Given the description of an element on the screen output the (x, y) to click on. 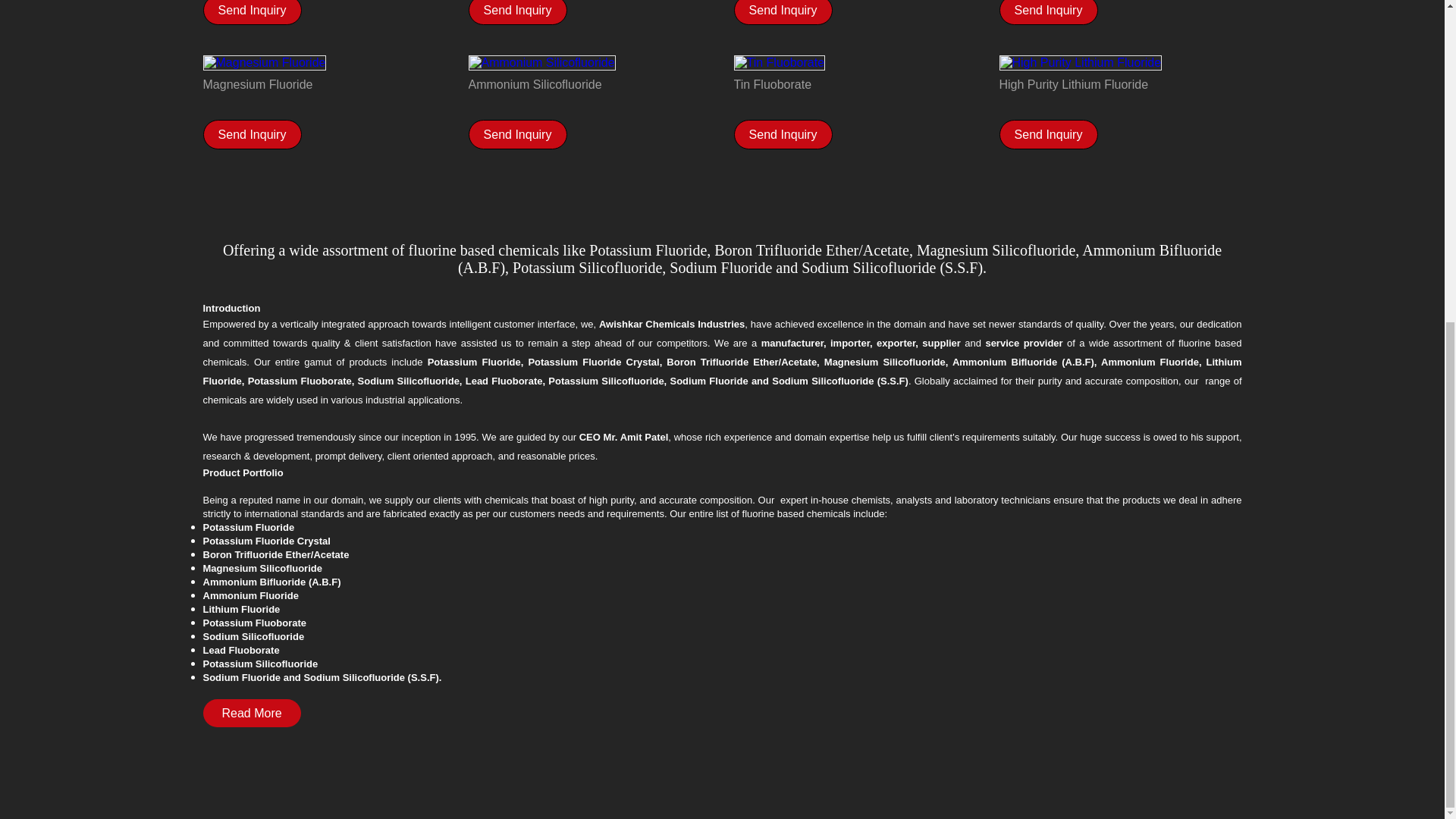
Send Inquiry (517, 9)
Send Inquiry (782, 9)
Send Inquiry (252, 9)
